Given the description of an element on the screen output the (x, y) to click on. 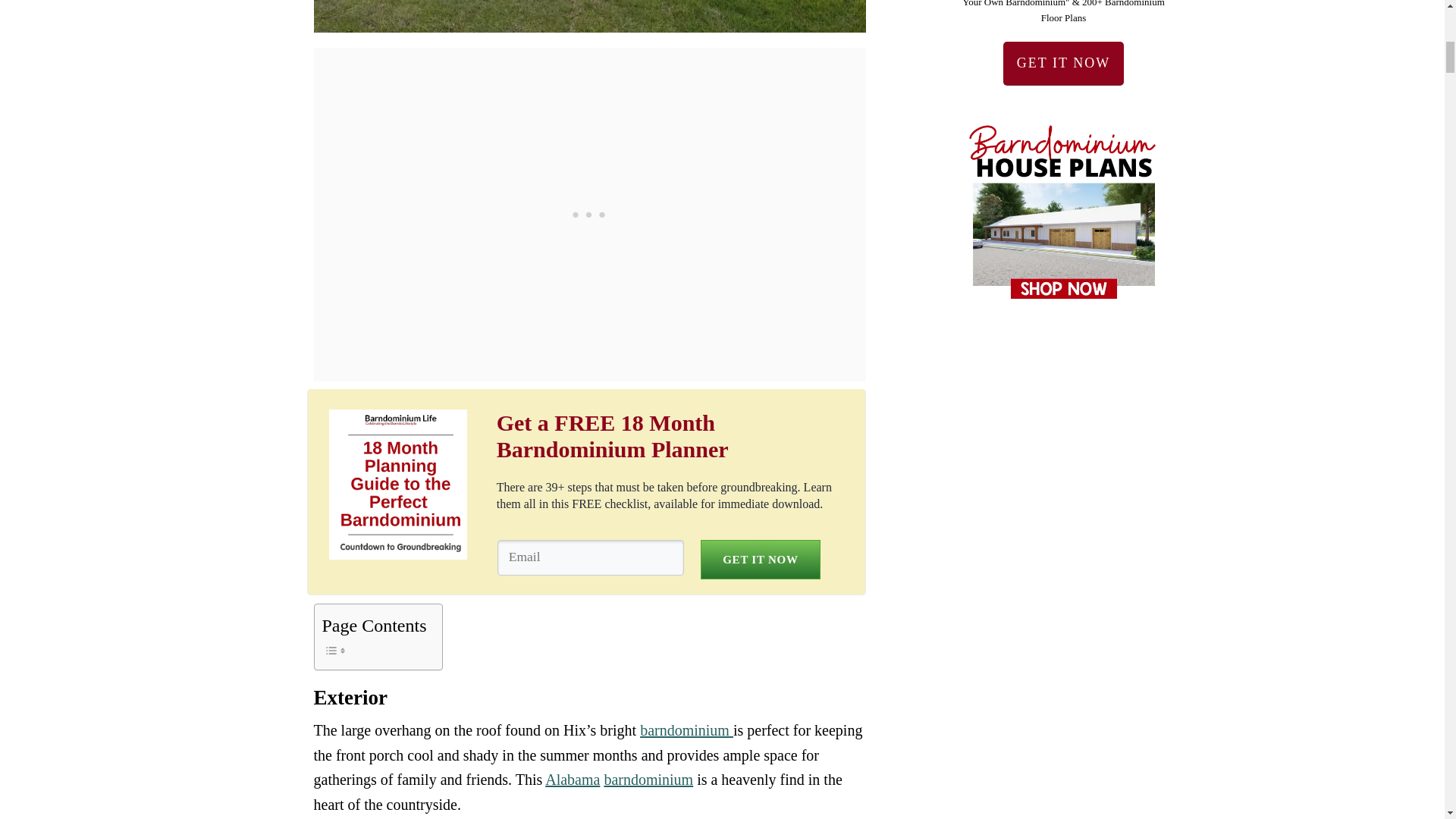
barndominium (648, 779)
GET IT NOW (759, 559)
Alabama (571, 779)
18-Month-Pre-Building-Timeline-Cover.30 (401, 484)
barndominium (686, 729)
